Given the description of an element on the screen output the (x, y) to click on. 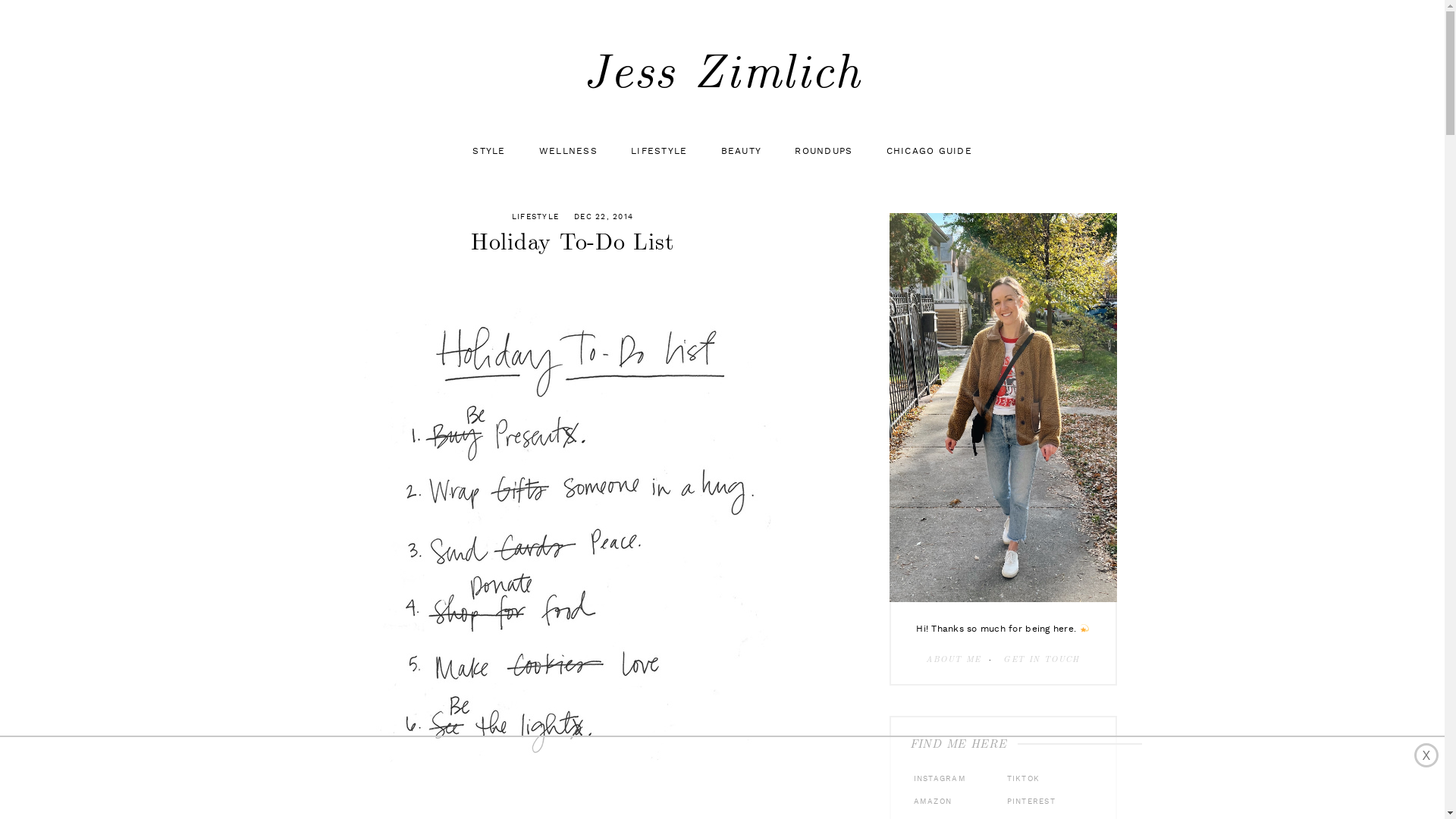
3rd party ad content Element type: hover (721, 777)
GET IN TOUCH Element type: text (1041, 659)
TIKTOK Element type: text (1020, 778)
CHICAGO GUIDE Element type: text (928, 151)
ROUNDUPS Element type: text (823, 151)
LIFESTYLE Element type: text (658, 151)
AMAZON Element type: text (931, 801)
STYLE Element type: text (488, 151)
ABOUT ME Element type: text (952, 659)
Holiday To-Do List Element type: hover (572, 541)
WELLNESS Element type: text (568, 151)
LIFESTYLE Element type: text (534, 216)
PINTEREST Element type: text (1028, 801)
INSTAGRAM Element type: text (938, 778)
BEAUTY Element type: text (740, 151)
Jess Zimlich Element type: text (721, 73)
